Given the description of an element on the screen output the (x, y) to click on. 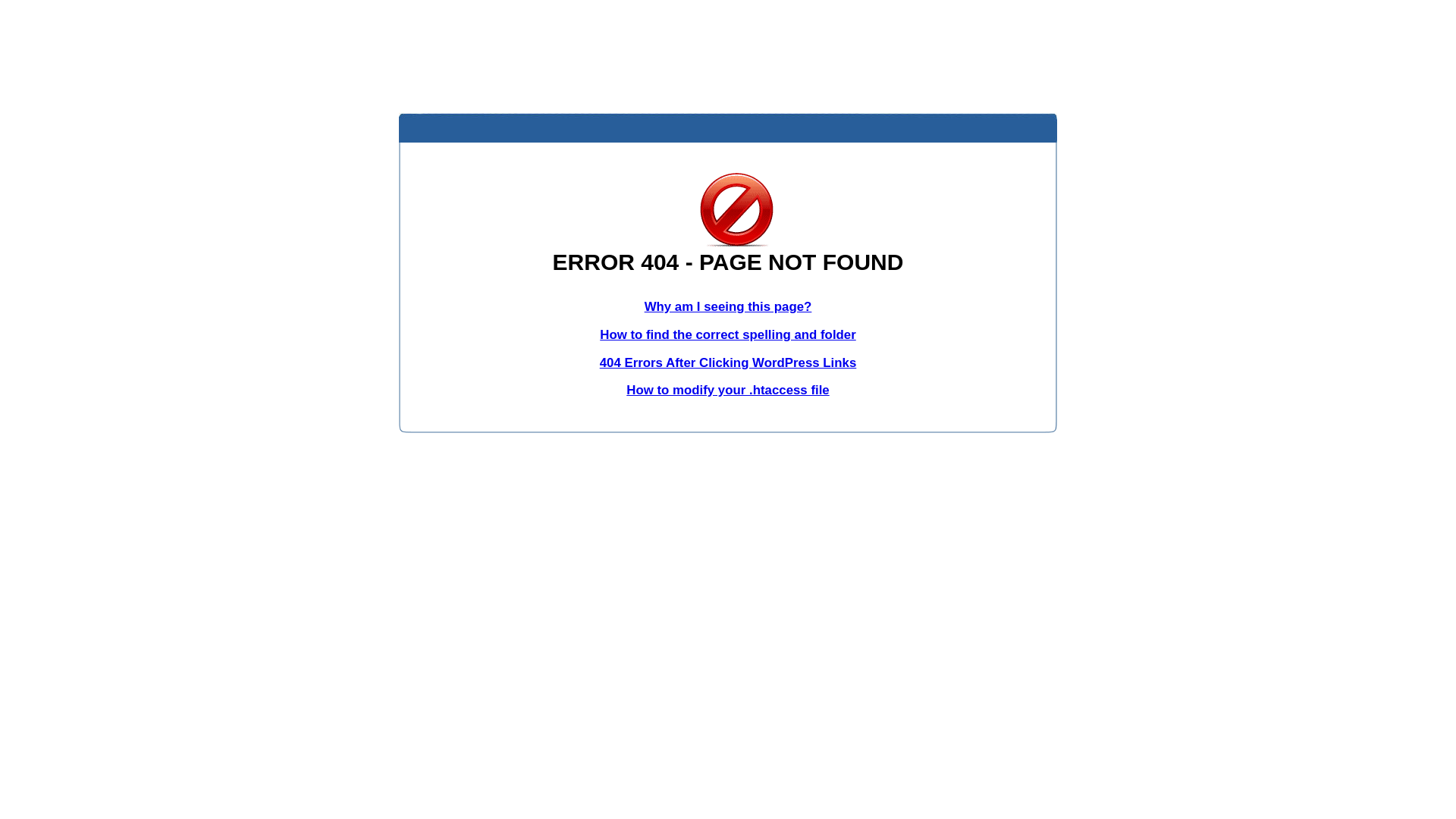
Why am I seeing this page? Element type: text (728, 306)
404 Errors After Clicking WordPress Links Element type: text (727, 362)
How to modify your .htaccess file Element type: text (727, 389)
How to find the correct spelling and folder Element type: text (727, 334)
